Given the description of an element on the screen output the (x, y) to click on. 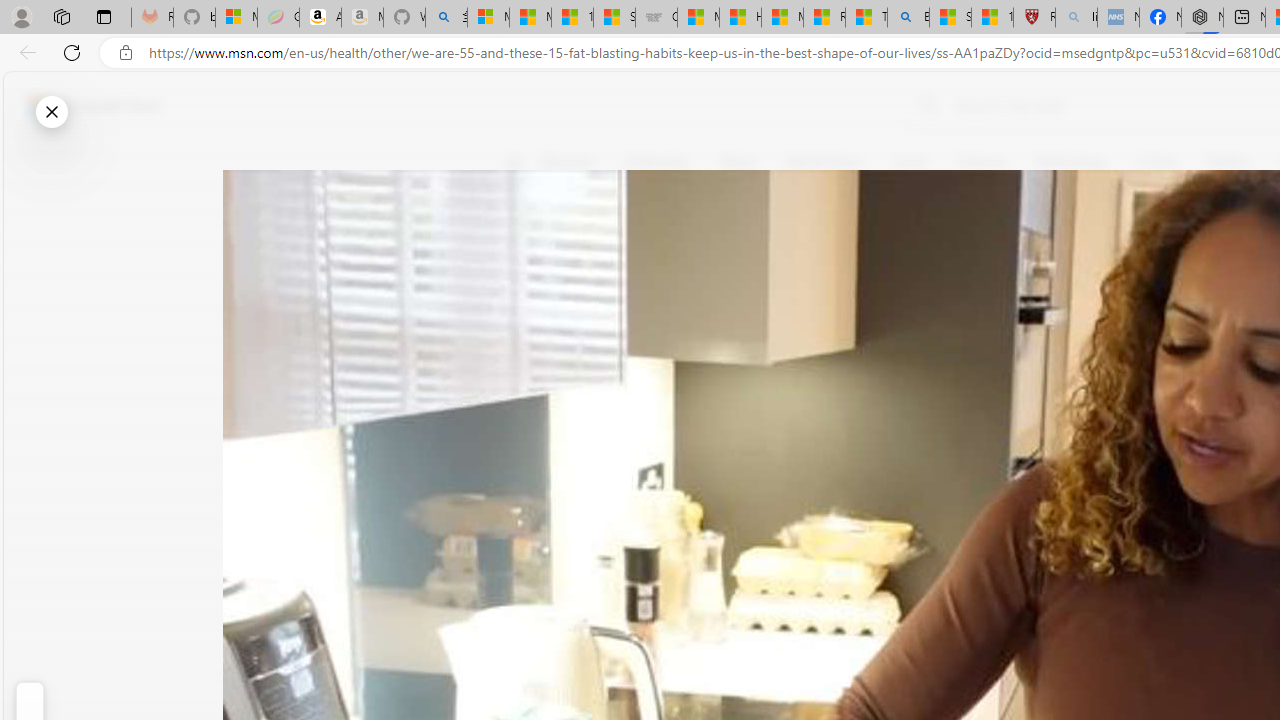
Body Network (788, 259)
See more (525, 468)
Tab actions menu (104, 16)
World News (824, 162)
Open navigation menu (513, 162)
Microsoft account | Privacy (488, 17)
Dislike (525, 300)
Following (658, 162)
Refresh (72, 52)
News (738, 162)
Technology (1071, 162)
